Given the description of an element on the screen output the (x, y) to click on. 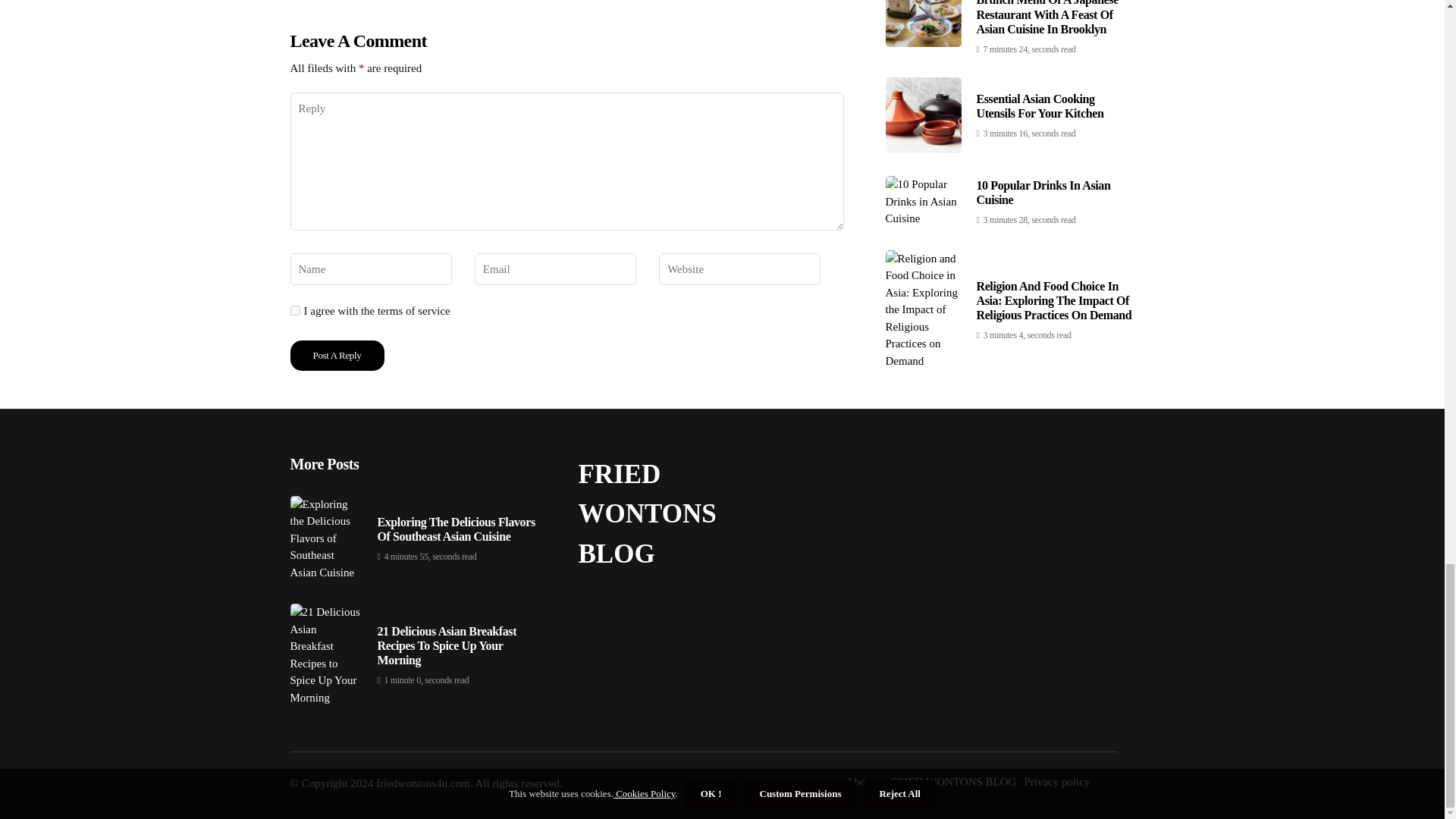
Post a Reply (336, 355)
Post a Reply (336, 355)
yes (294, 310)
